Given the description of an element on the screen output the (x, y) to click on. 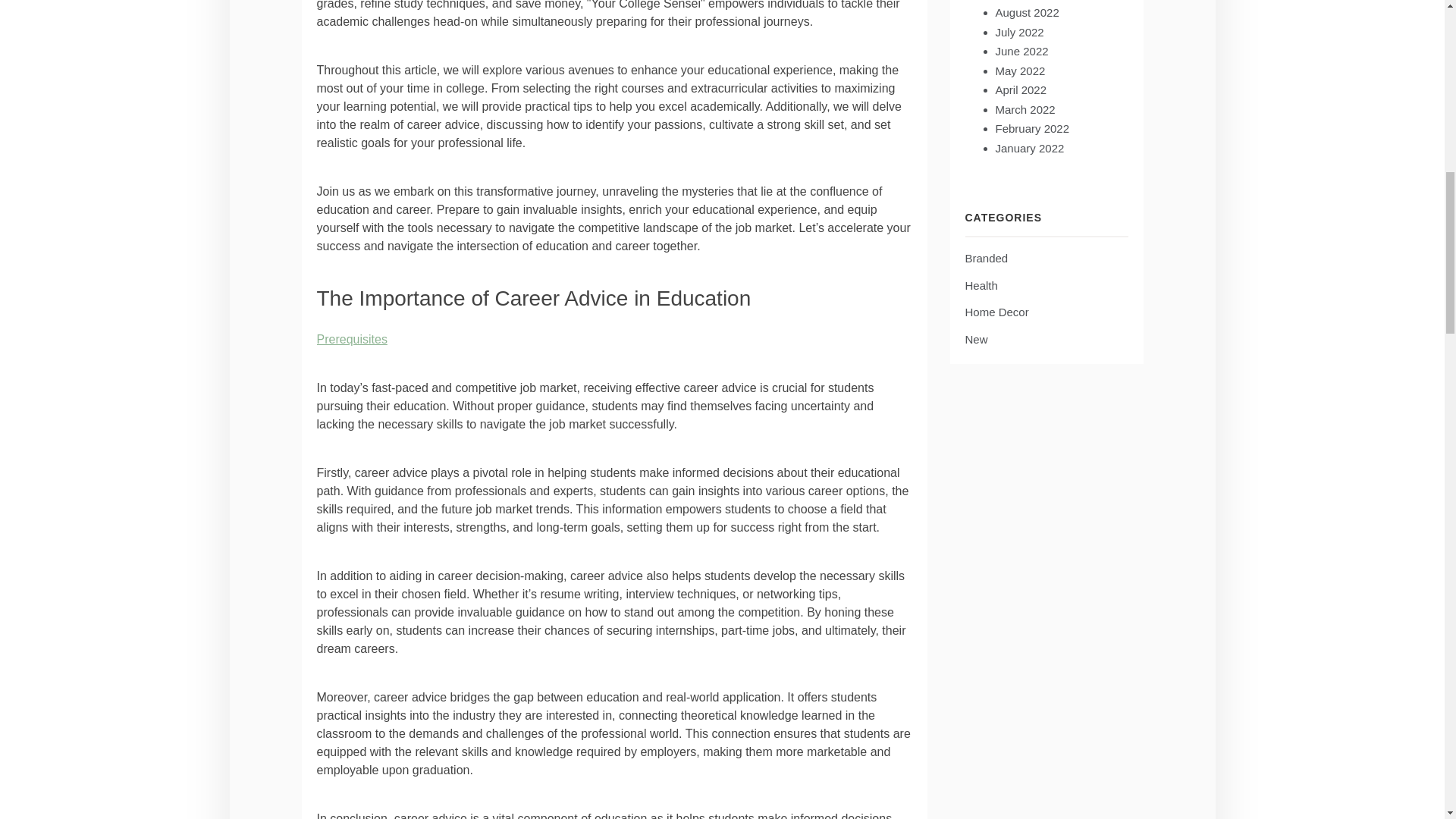
June 2022 (1021, 51)
January 2022 (1029, 147)
August 2022 (1026, 11)
April 2022 (1020, 89)
May 2022 (1019, 70)
Prerequisites (352, 338)
July 2022 (1018, 31)
March 2022 (1024, 109)
February 2022 (1031, 128)
